Given the description of an element on the screen output the (x, y) to click on. 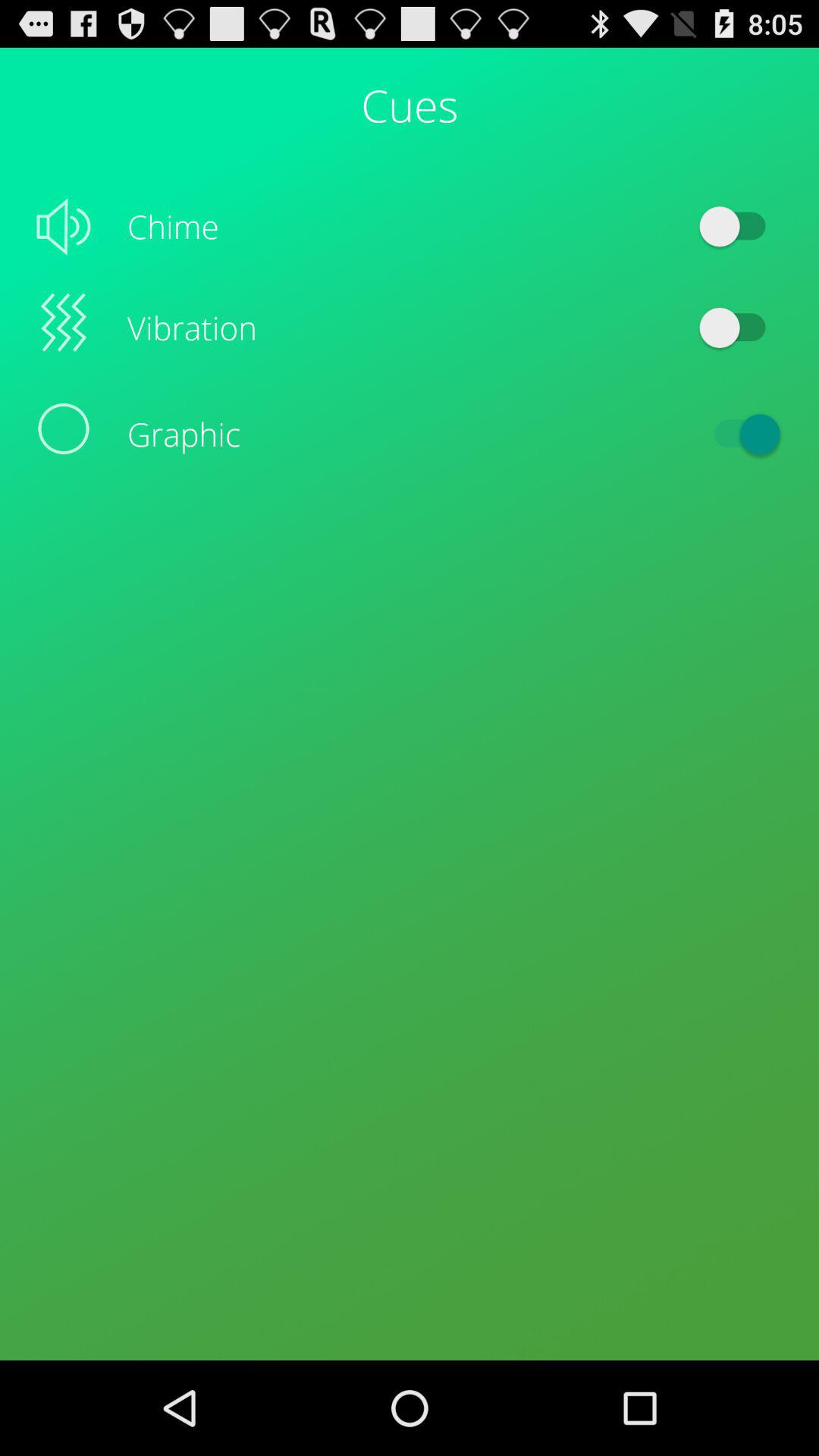
select the icon below the cues icon (739, 226)
